Given the description of an element on the screen output the (x, y) to click on. 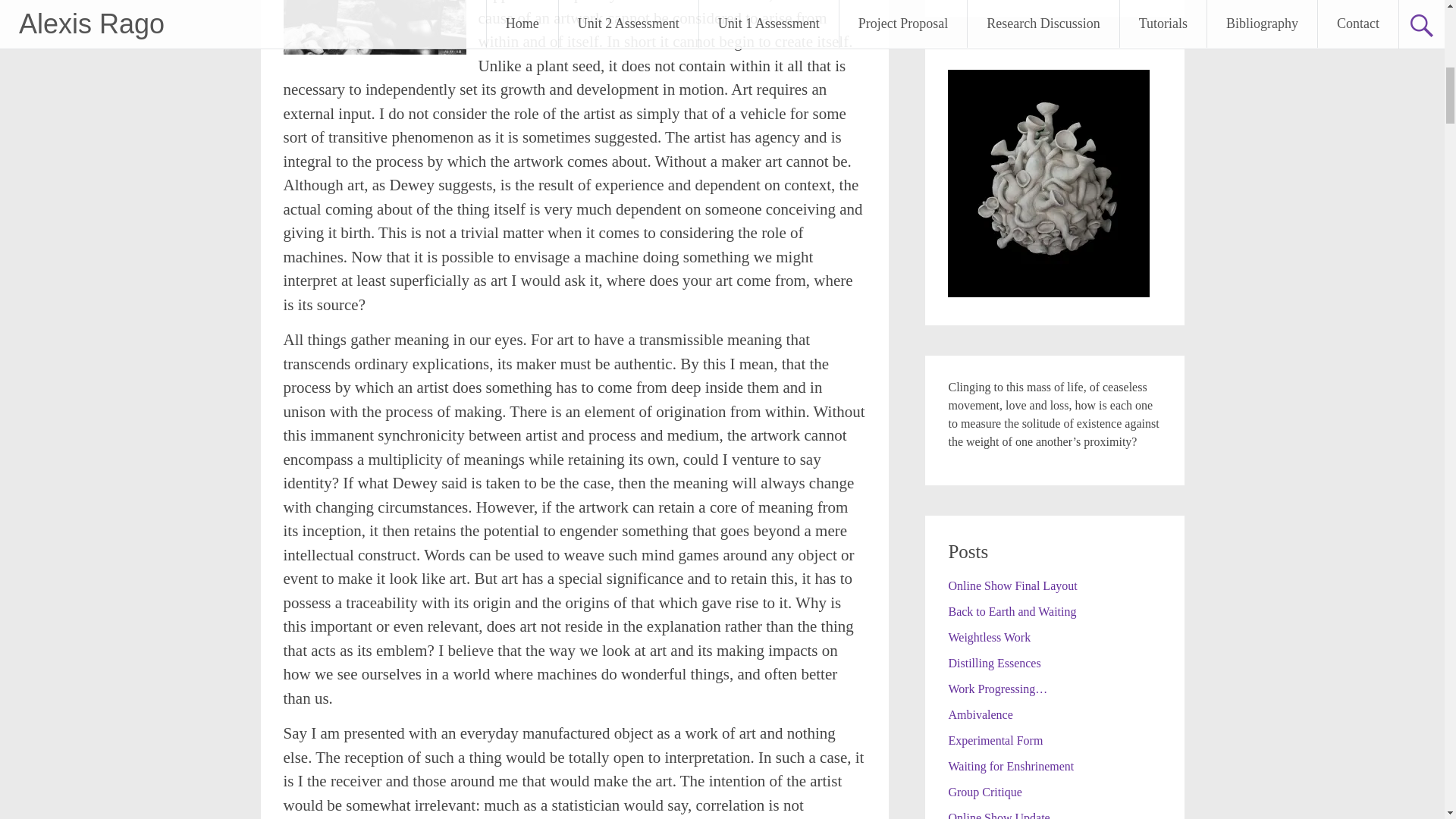
Weightless Work (988, 636)
Online Show Final Layout (1012, 585)
Ambivalence (979, 714)
Distilling Essences (994, 662)
Back to Earth and Waiting (1011, 611)
